Given the description of an element on the screen output the (x, y) to click on. 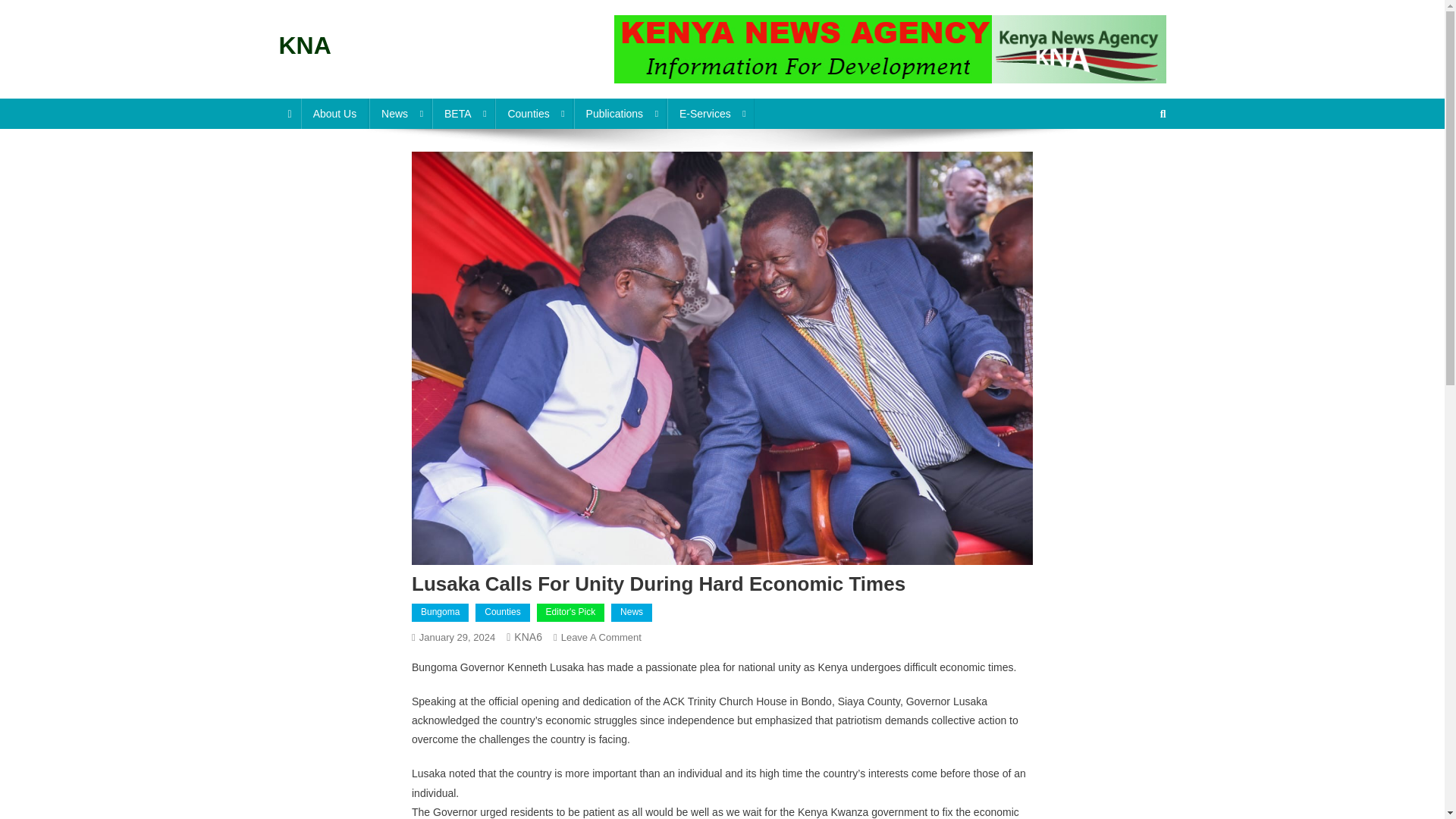
BETA (463, 113)
Counties (533, 113)
KNA (305, 44)
News (399, 113)
About Us (335, 113)
